Given the description of an element on the screen output the (x, y) to click on. 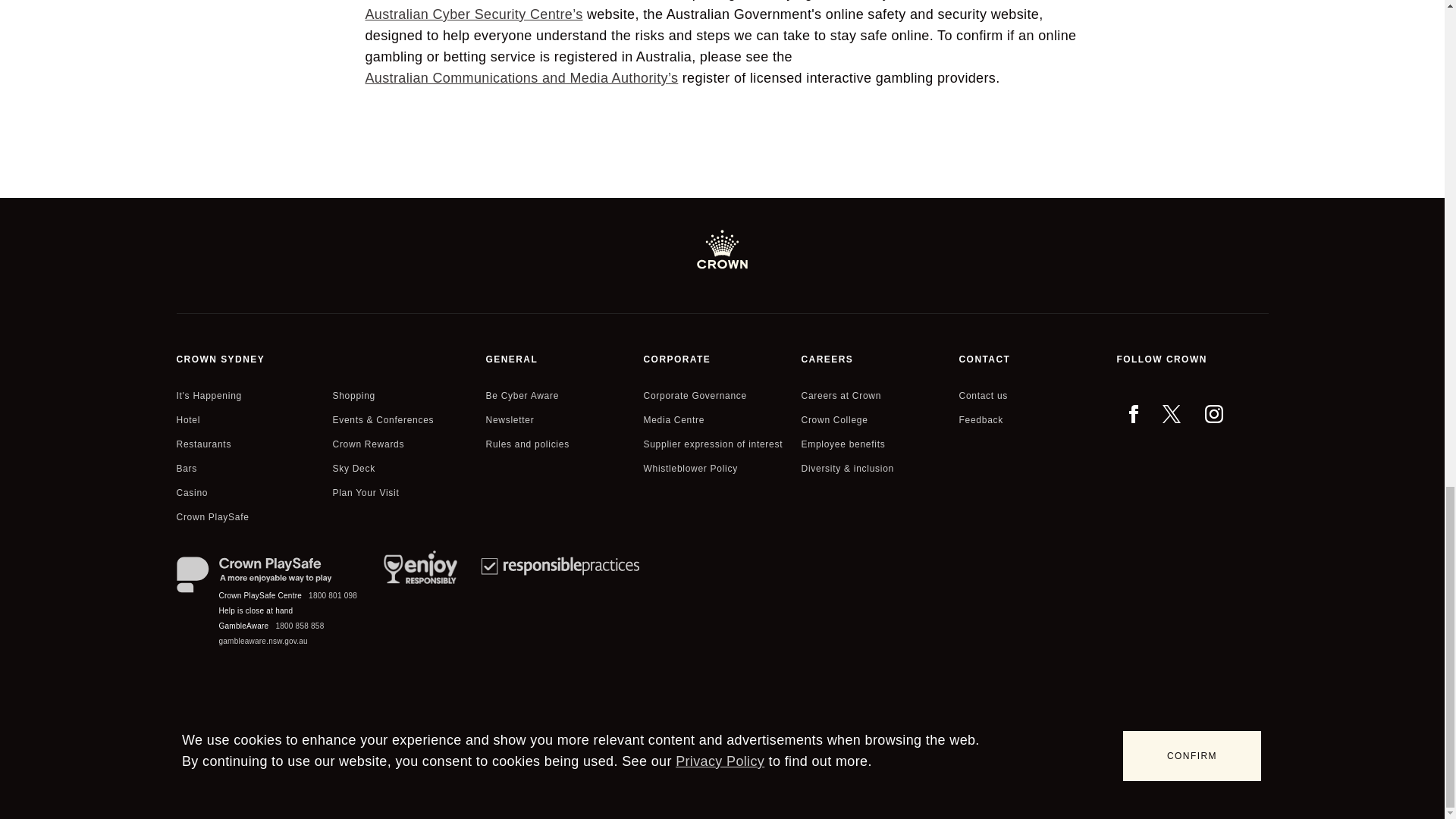
CROWN SYDNEY (327, 359)
Newsletter (509, 420)
Bars (186, 468)
Rules and policies (526, 443)
Plan Your Visit (364, 493)
Restaurants (203, 443)
Crown PlaySafe (212, 516)
GENERAL (560, 359)
Be Cyber Aware (521, 395)
It's Happening (208, 395)
Hotel (188, 420)
Crown Rewards (367, 443)
Sky Deck (352, 468)
Casino (192, 493)
Shopping (352, 395)
